Given the description of an element on the screen output the (x, y) to click on. 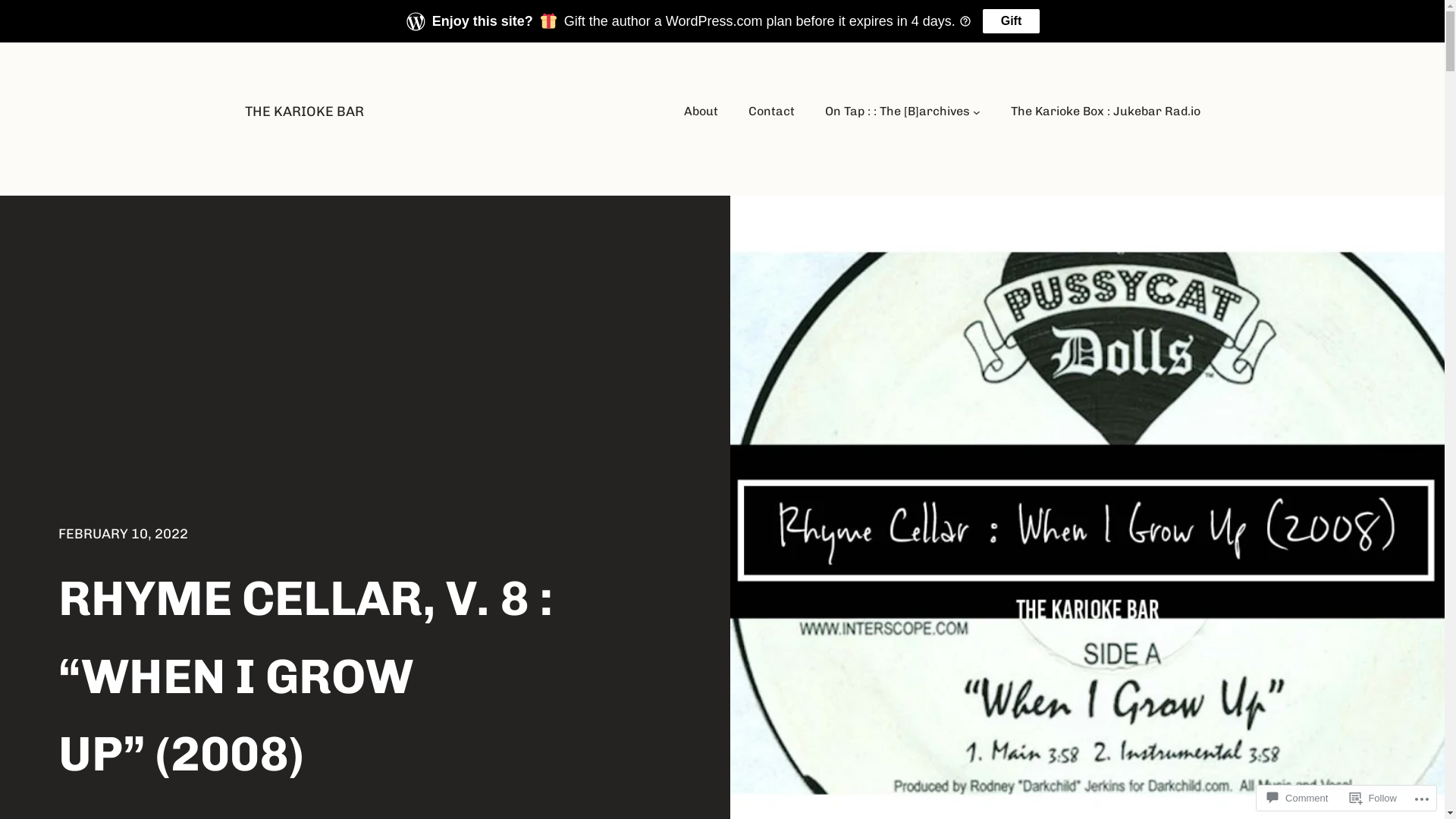
Contact Element type: text (771, 111)
THE KARIOKE BAR Element type: text (303, 111)
Comment Element type: text (1297, 797)
Gift Element type: text (1011, 21)
Follow Element type: text (1372, 797)
The Karioke Box : Jukebar Rad.io Element type: text (1104, 111)
About Element type: text (701, 111)
On Tap : : The [B]archives Element type: text (897, 111)
